Given the description of an element on the screen output the (x, y) to click on. 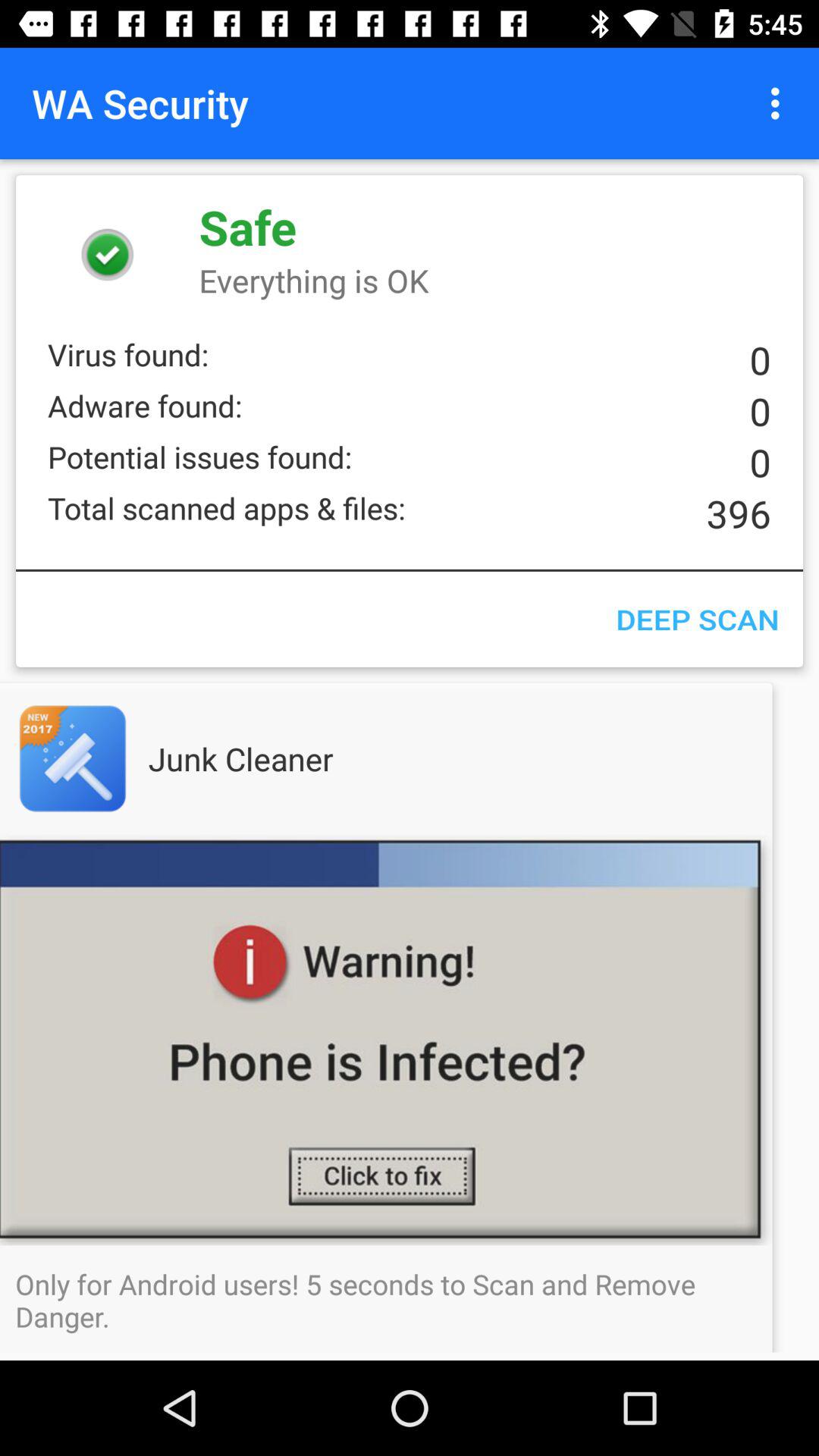
advertisement for another app (103, 758)
